Given the description of an element on the screen output the (x, y) to click on. 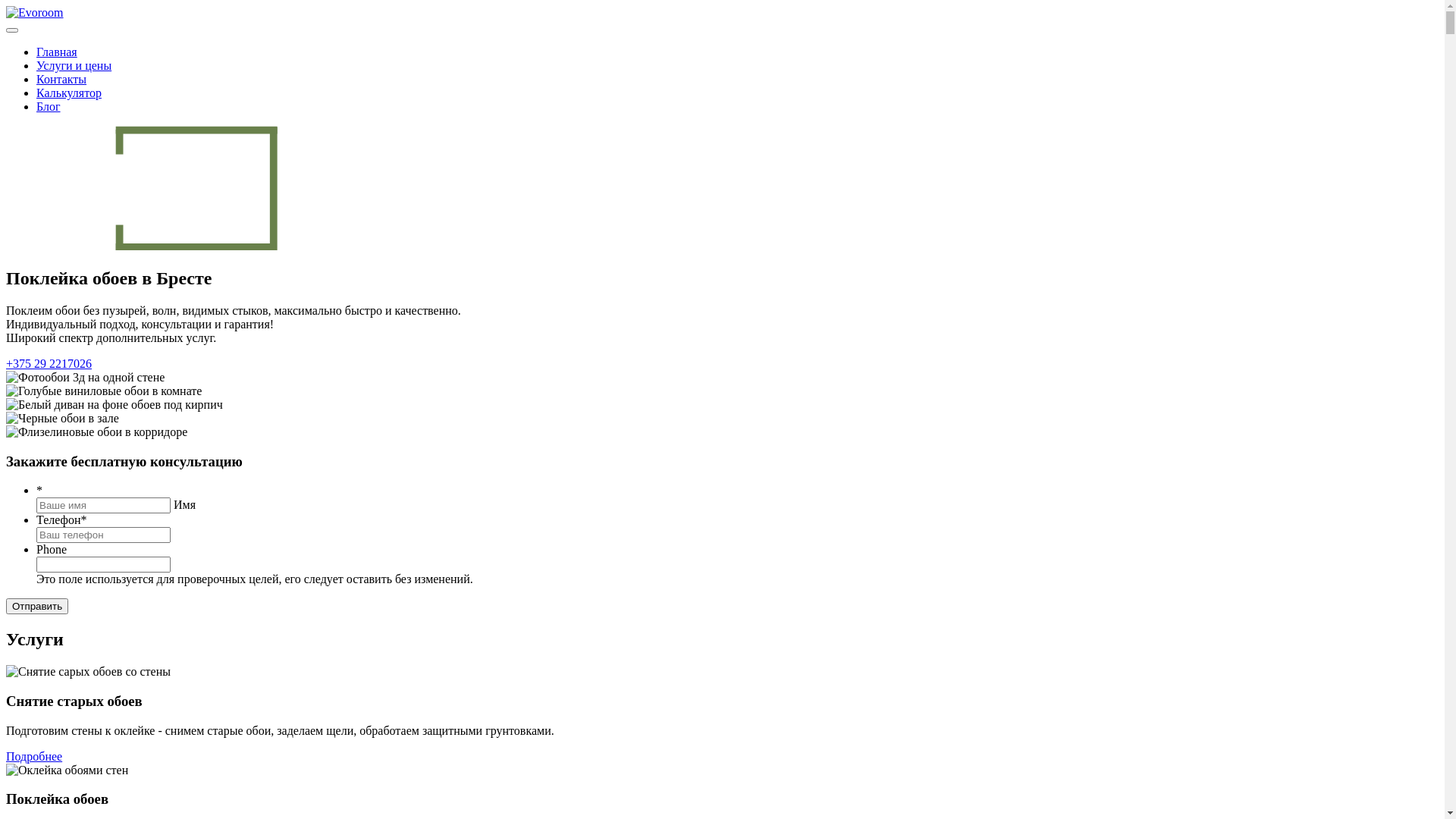
+375 29 2217026 Element type: text (48, 363)
